Given the description of an element on the screen output the (x, y) to click on. 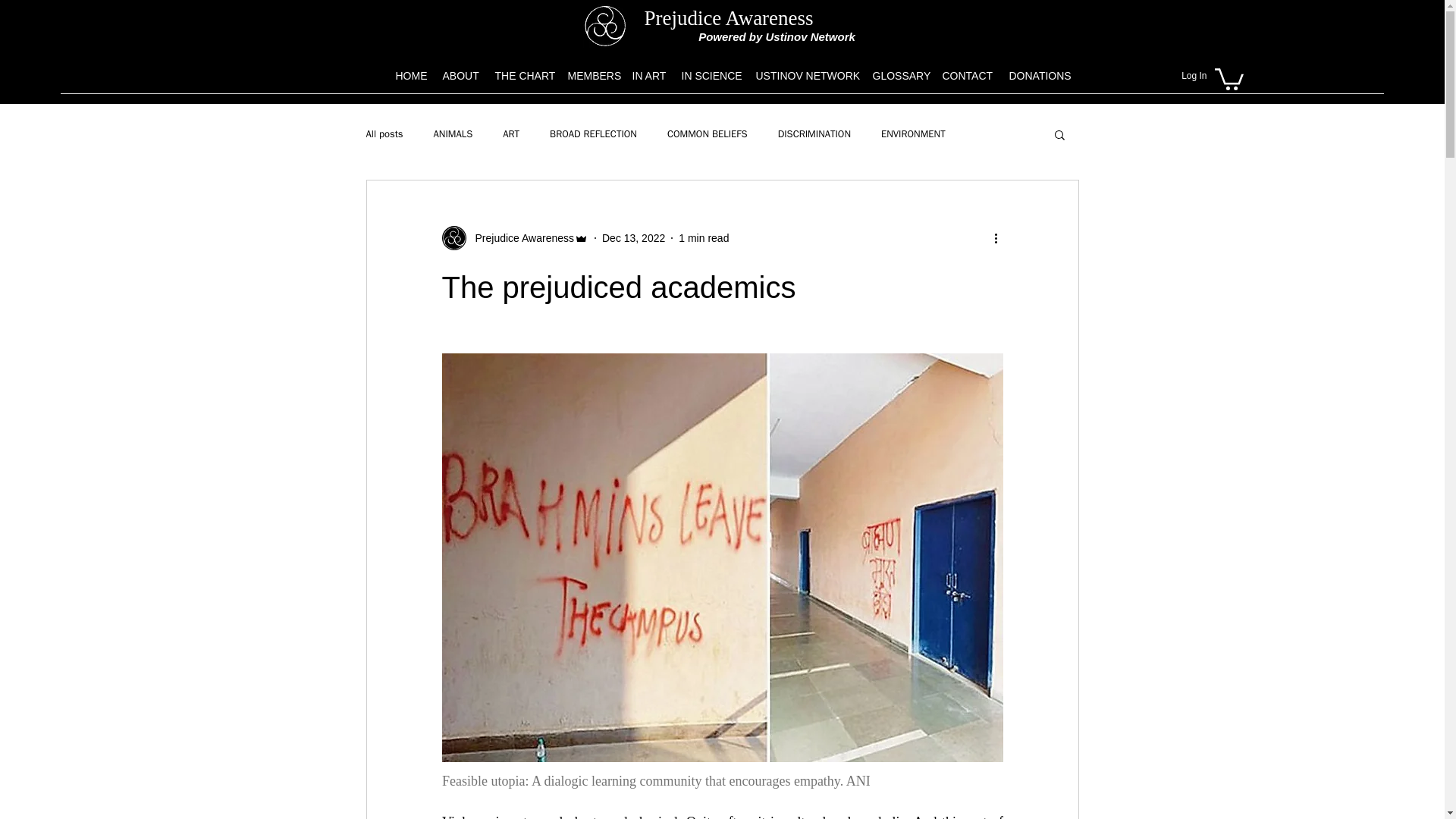
All posts (384, 133)
Log In (1193, 75)
Prejudice Awareness (727, 17)
ANIMALS (453, 133)
HOME (411, 76)
GLOSSARY (899, 76)
ENVIRONMENT (912, 133)
DISCRIMINATION (813, 133)
IN SCIENCE (710, 76)
THE CHART (522, 76)
CONTACT (967, 76)
1 min read (703, 237)
USTINOV NETWORK (806, 76)
IN ART (649, 76)
COMMON BELIEFS (707, 133)
